Given the description of an element on the screen output the (x, y) to click on. 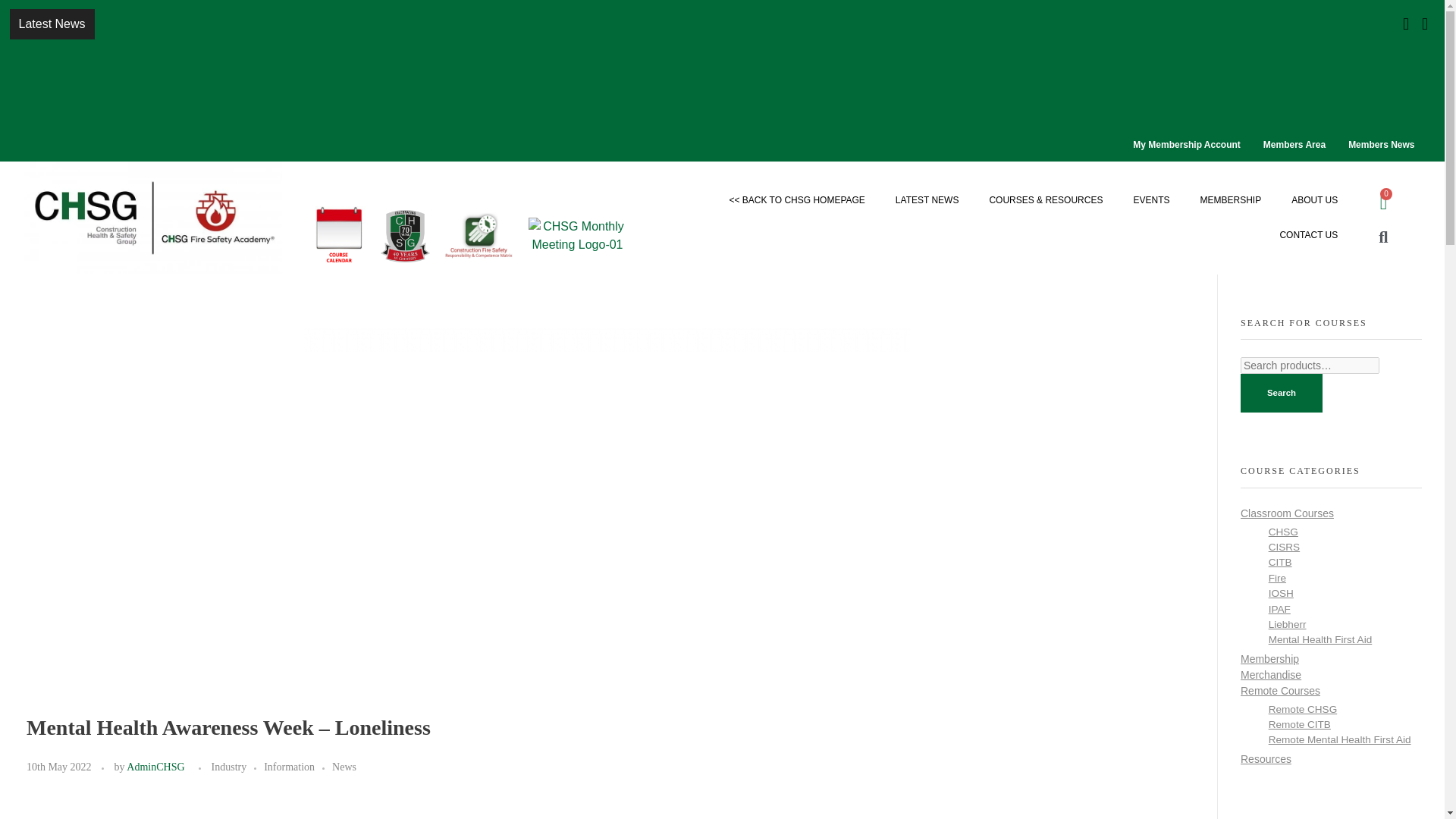
Members News (1380, 144)
View all posts in News (343, 766)
View all posts in Industry (237, 766)
View all posts in Information (297, 766)
My Membership Account (1186, 144)
View all posts by AdminCHSG (155, 767)
Members Area (1294, 144)
LATEST NEWS (927, 199)
CHSG Monthly Meeting Logo-01 (577, 235)
